Given the description of an element on the screen output the (x, y) to click on. 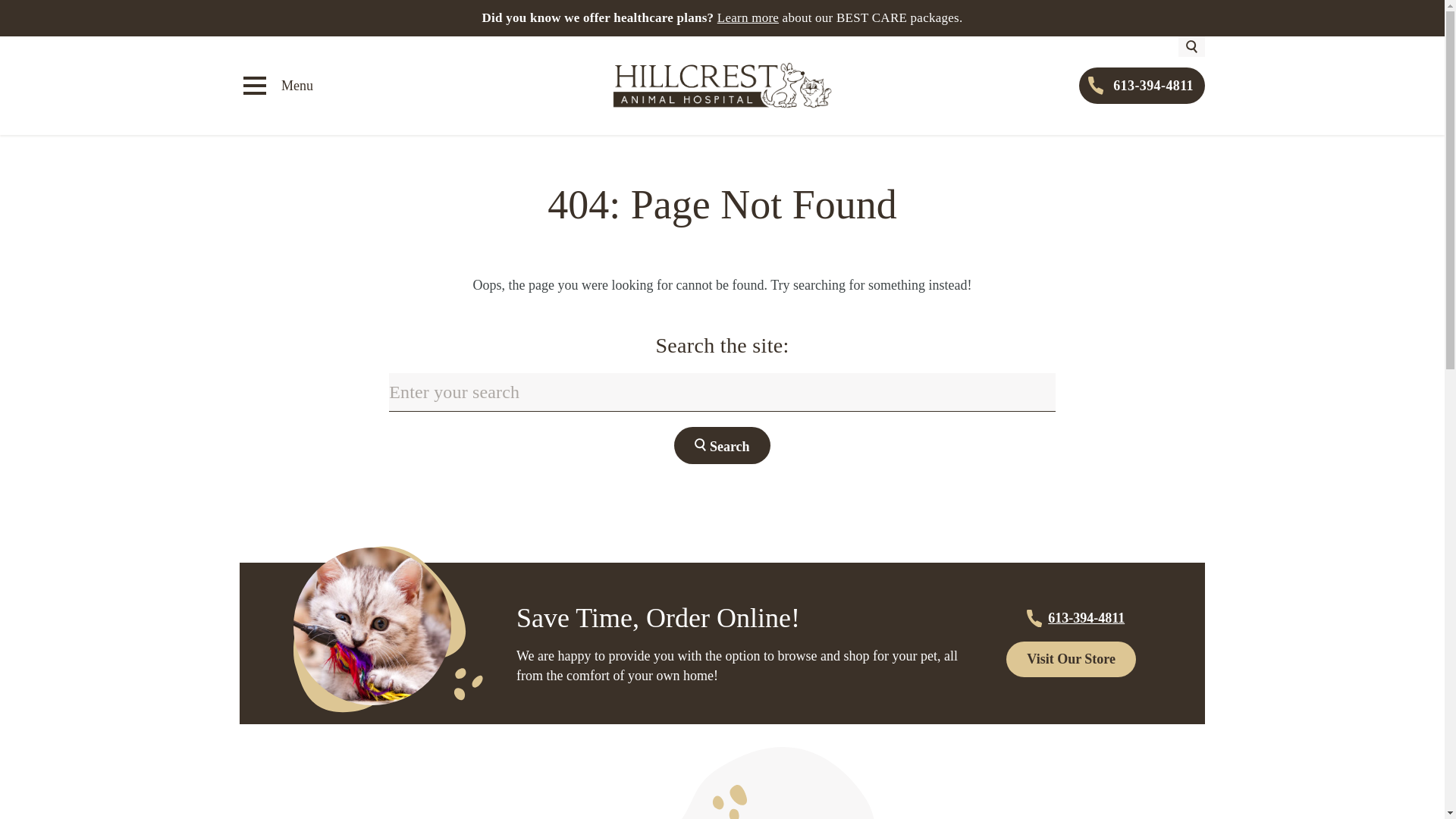
Learn more (747, 17)
Visit Our Store (1070, 659)
613-394-4811 (1141, 85)
Search (722, 445)
613-394-4811 (1070, 618)
